Given the description of an element on the screen output the (x, y) to click on. 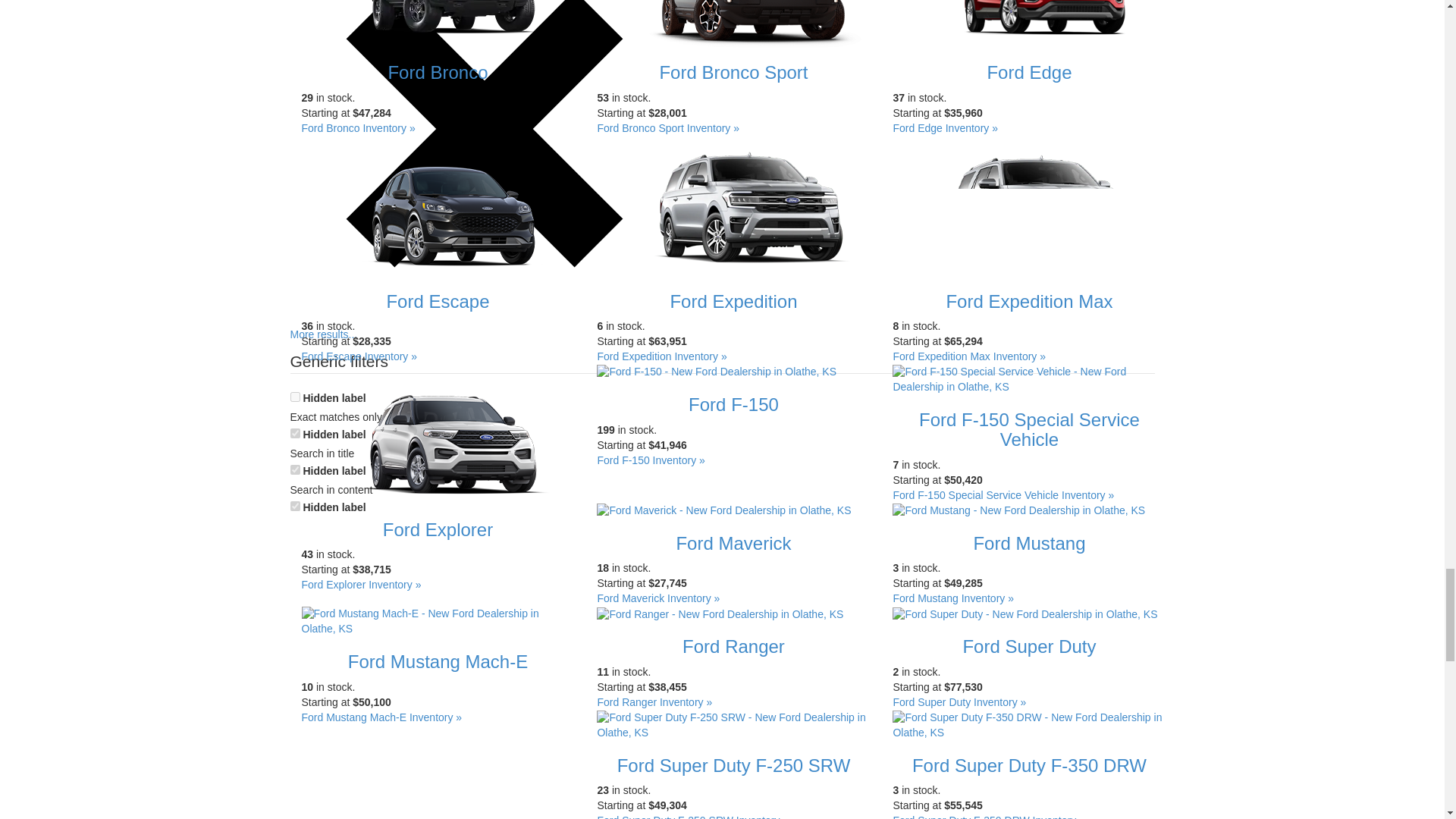
excerpt (294, 506)
exact (294, 397)
title (294, 433)
content (294, 470)
